Given the description of an element on the screen output the (x, y) to click on. 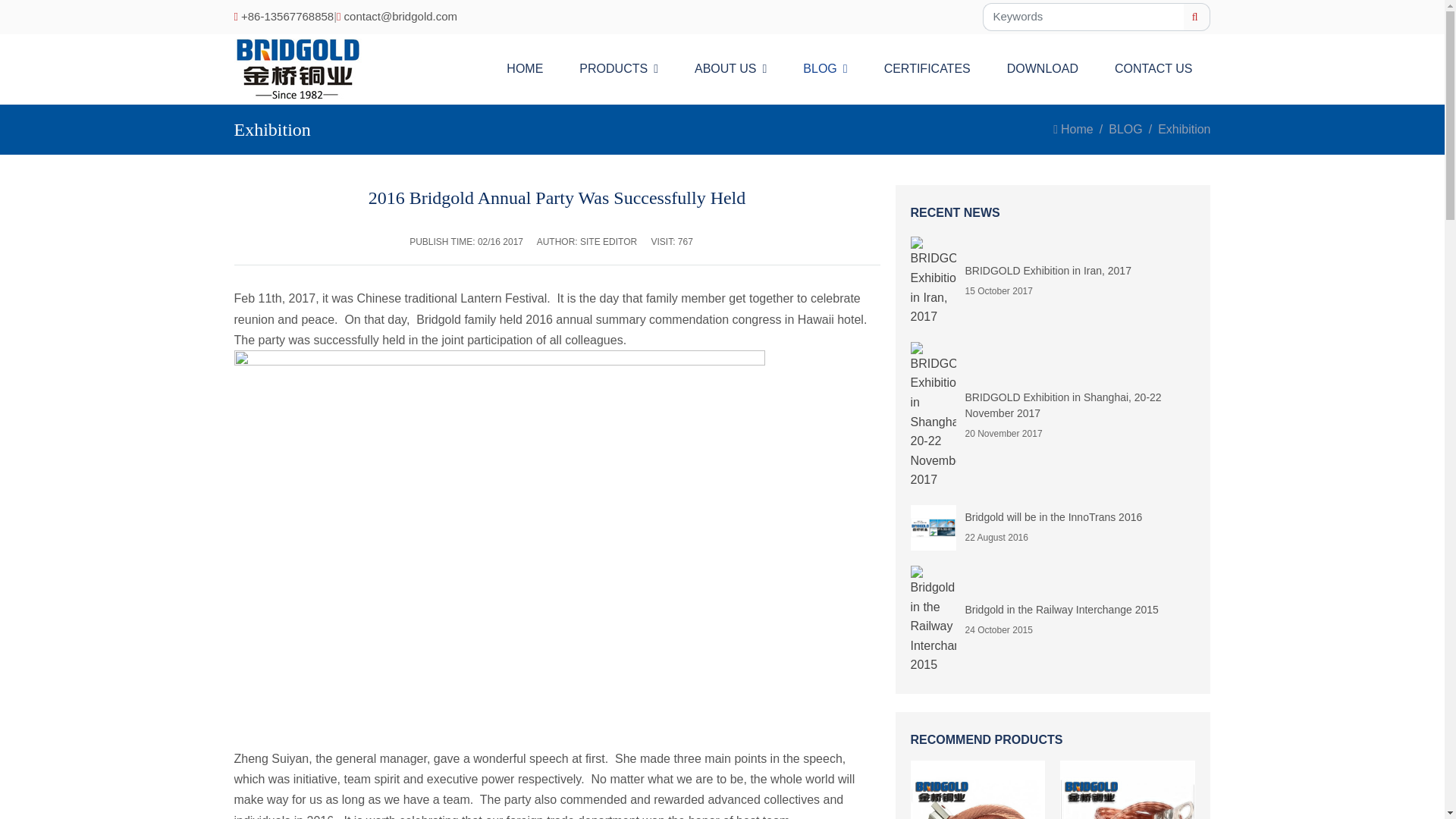
PRODUCTS (618, 68)
ABOUT US (848, 68)
HOME (730, 68)
